Given the description of an element on the screen output the (x, y) to click on. 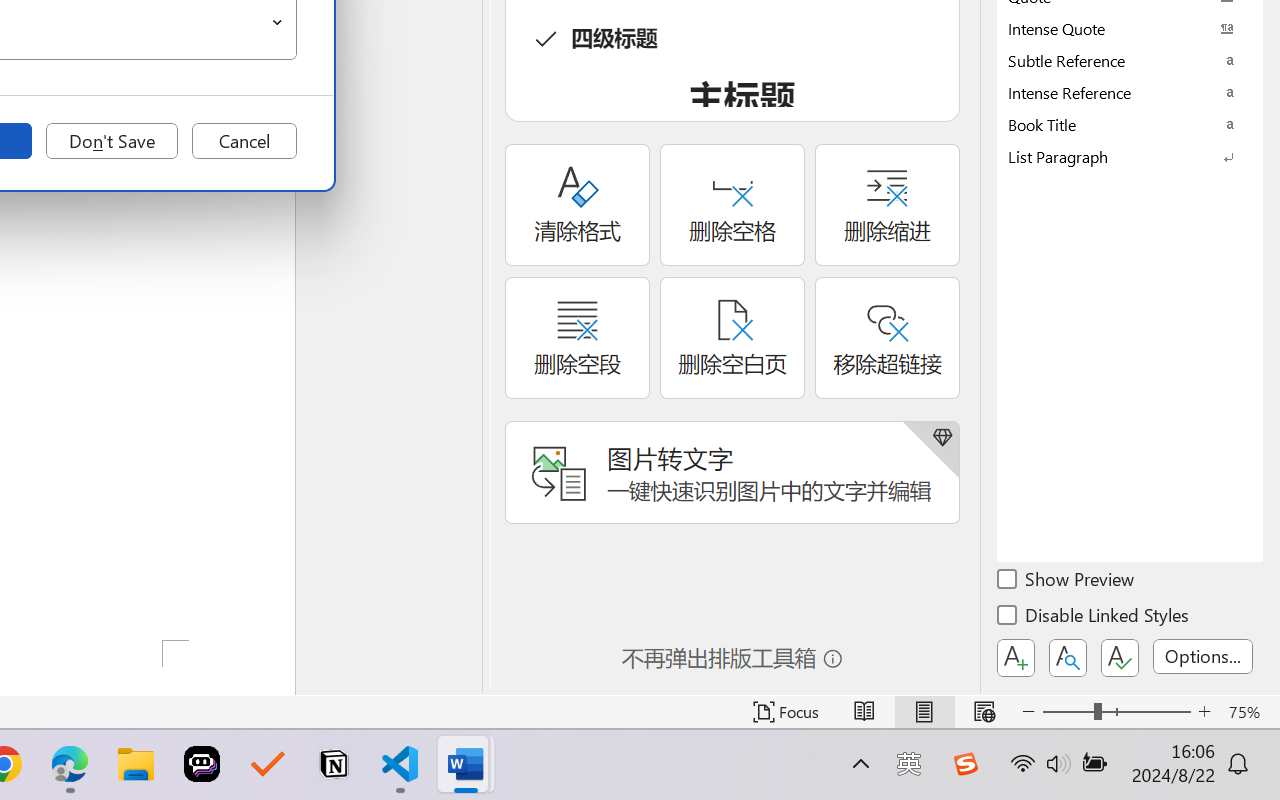
Intense Reference (1130, 92)
Web Layout (984, 712)
Don't Save (111, 141)
Poe (201, 764)
Show Preview (1067, 582)
Notion (333, 764)
Disable Linked Styles (1094, 618)
Read Mode (864, 712)
